Given the description of an element on the screen output the (x, y) to click on. 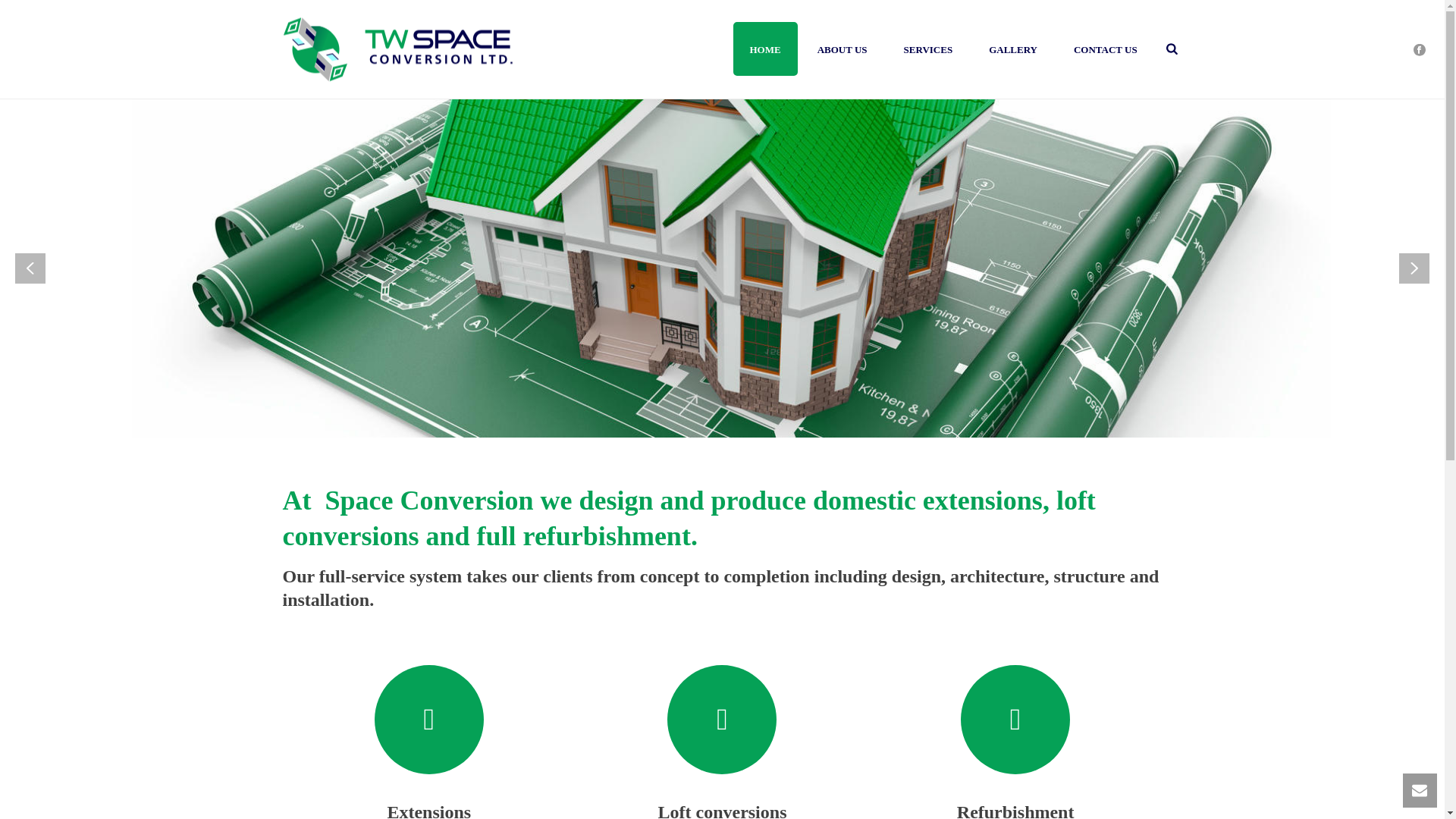
ABOUT US (841, 49)
CONTACT US (1105, 49)
ABOUT US (841, 49)
Extensions, Conversions, Refurbishment (397, 48)
SERVICES (927, 49)
GALLERY (1013, 49)
HOME (764, 49)
SERVICES (927, 49)
HOME (764, 49)
GALLERY (1013, 49)
CONTACT US (1105, 49)
